Given the description of an element on the screen output the (x, y) to click on. 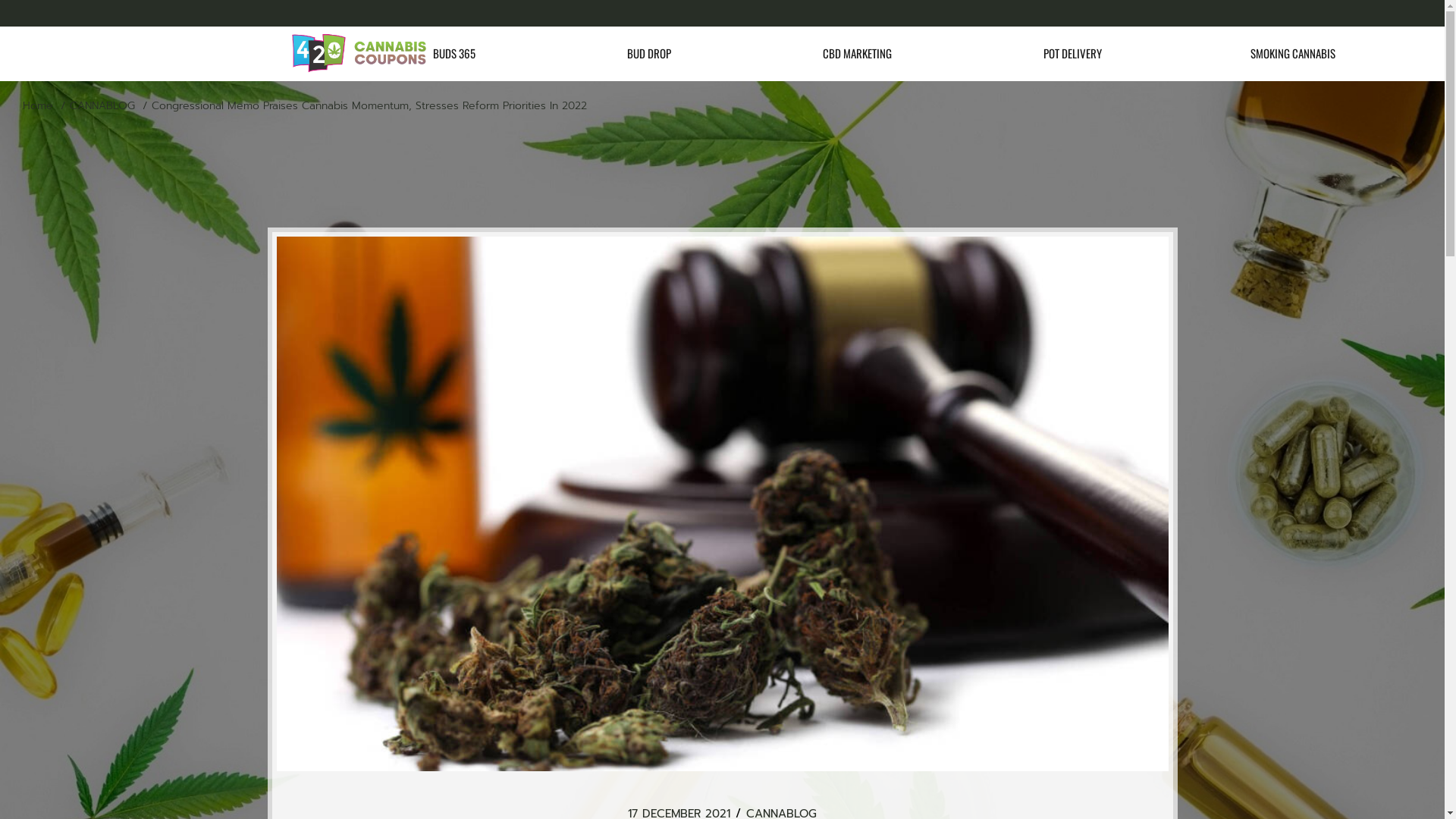
CBD MARKETING Element type: text (856, 53)
CANNABLOG Element type: text (101, 104)
SMOKING CANNABIS Element type: text (1292, 53)
POT DELIVERY Element type: text (1072, 53)
BUD DROP Element type: text (649, 53)
Home Element type: text (37, 104)
BUDS 365 Element type: text (454, 53)
